Given the description of an element on the screen output the (x, y) to click on. 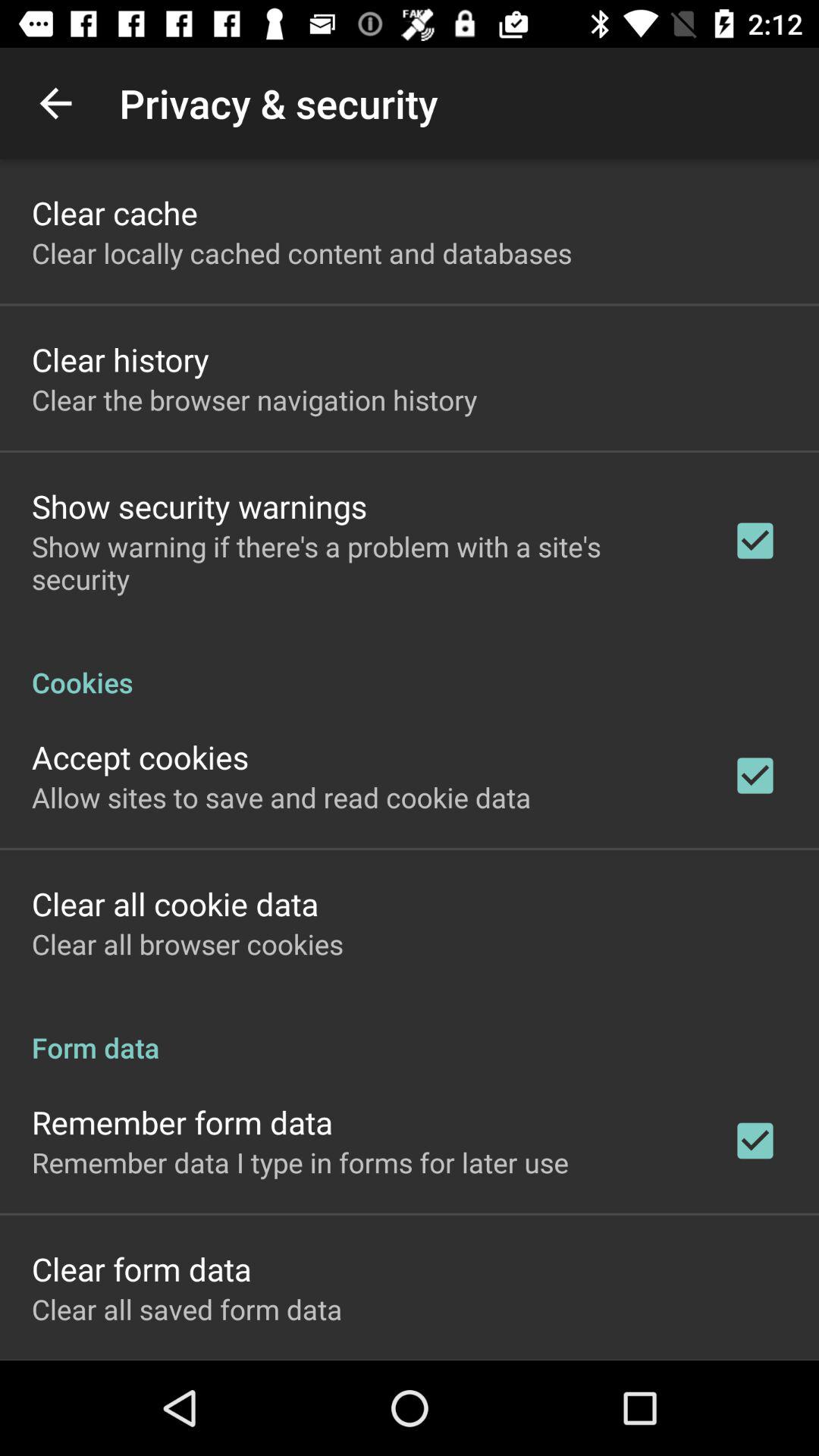
jump to accept cookies (140, 756)
